Given the description of an element on the screen output the (x, y) to click on. 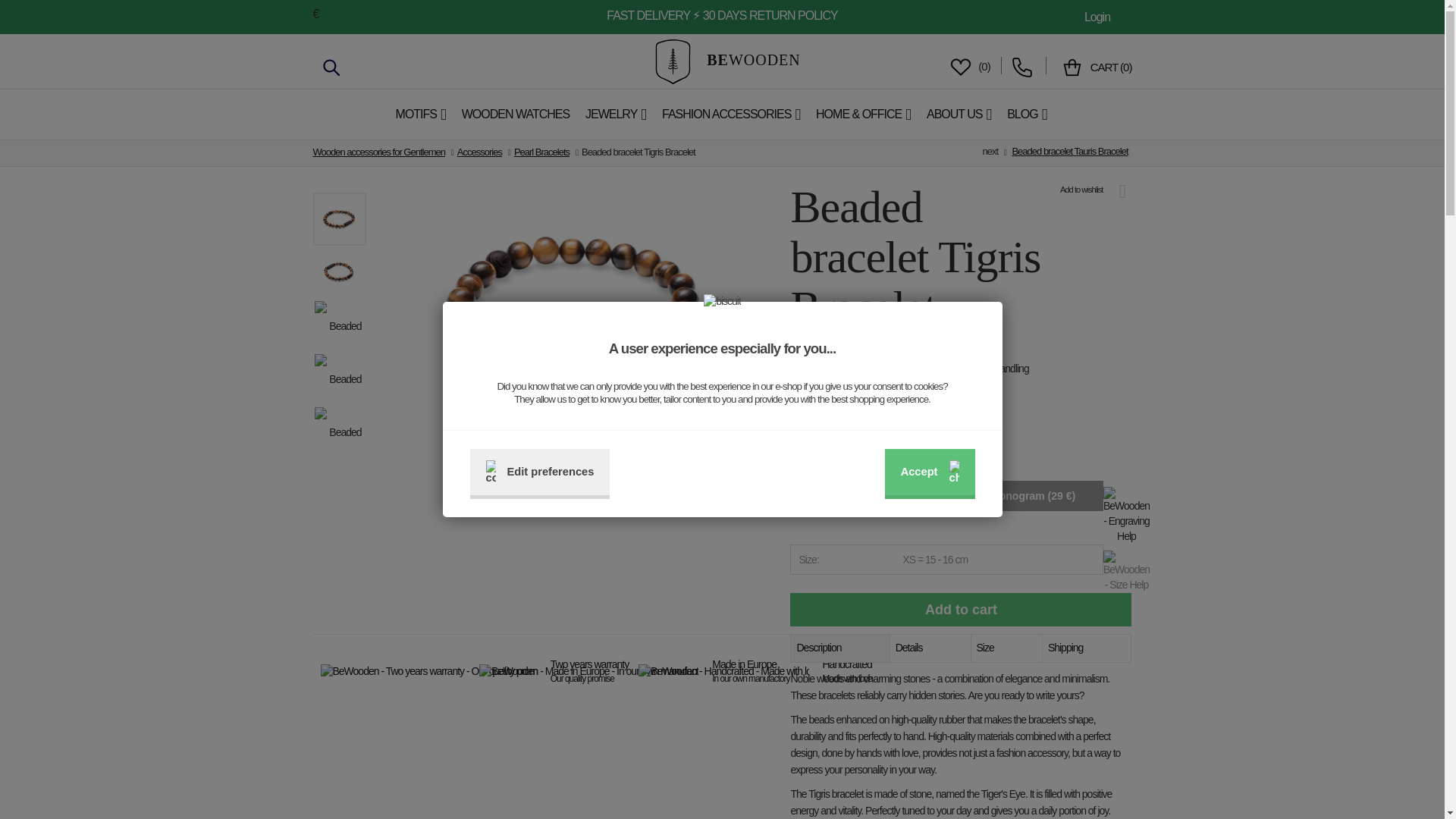
Wooden accessories for Gentlemen (378, 152)
Beaded bracelet Tigris Bracelet (339, 378)
ABOUT US (959, 114)
FASHION ACCESSORIES (732, 114)
Beaded bracelet Tigris Bracelet (339, 326)
Add to cart (960, 609)
Pearl Bracelets (541, 152)
MOTIFS (422, 114)
Beaded bracelet Tigris Bracelet (339, 432)
